Given the description of an element on the screen output the (x, y) to click on. 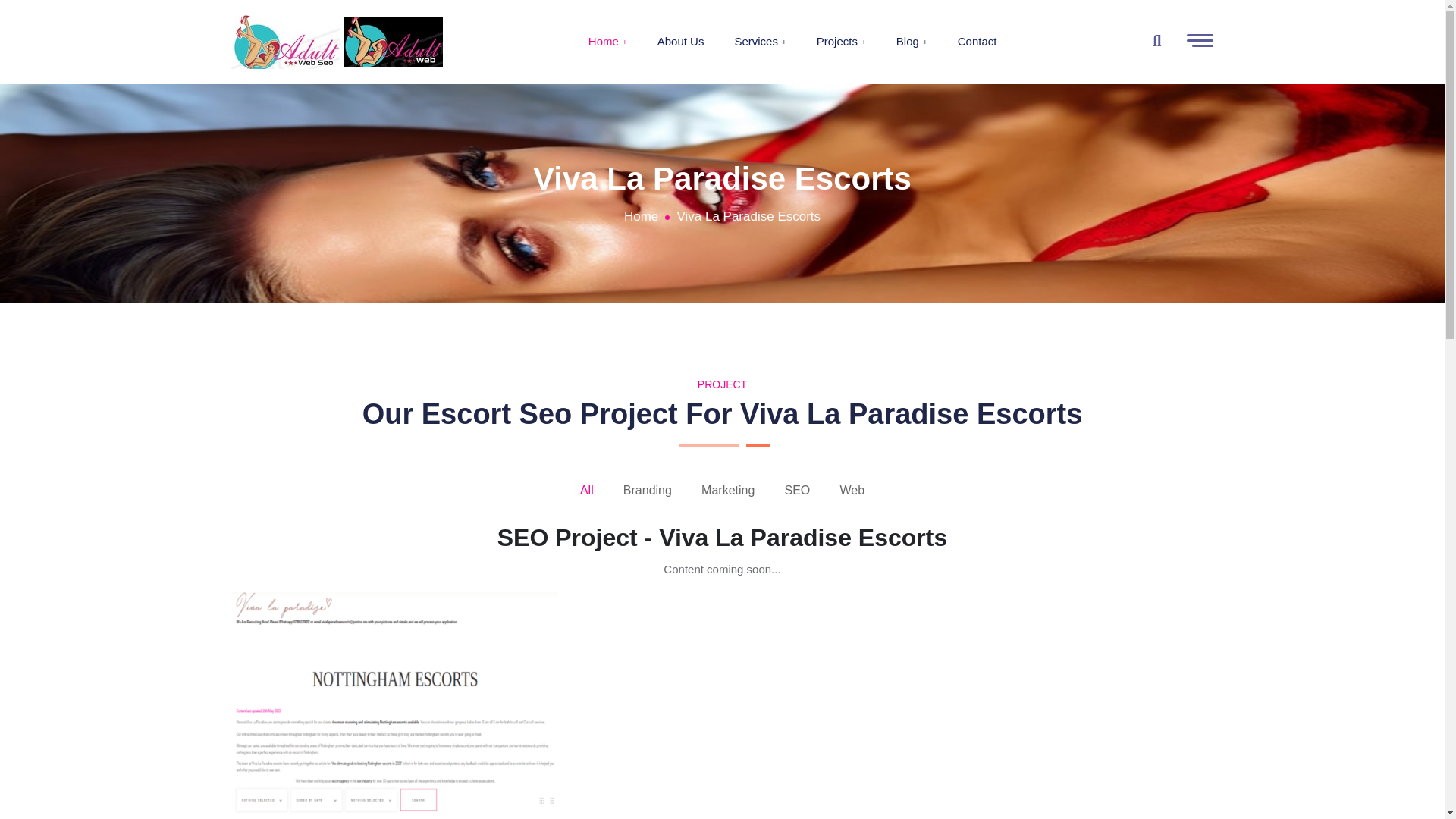
About Us (681, 41)
Home (641, 216)
Contact (977, 41)
Projects (841, 41)
Blog (911, 41)
Home (607, 41)
Services (759, 41)
